Given the description of an element on the screen output the (x, y) to click on. 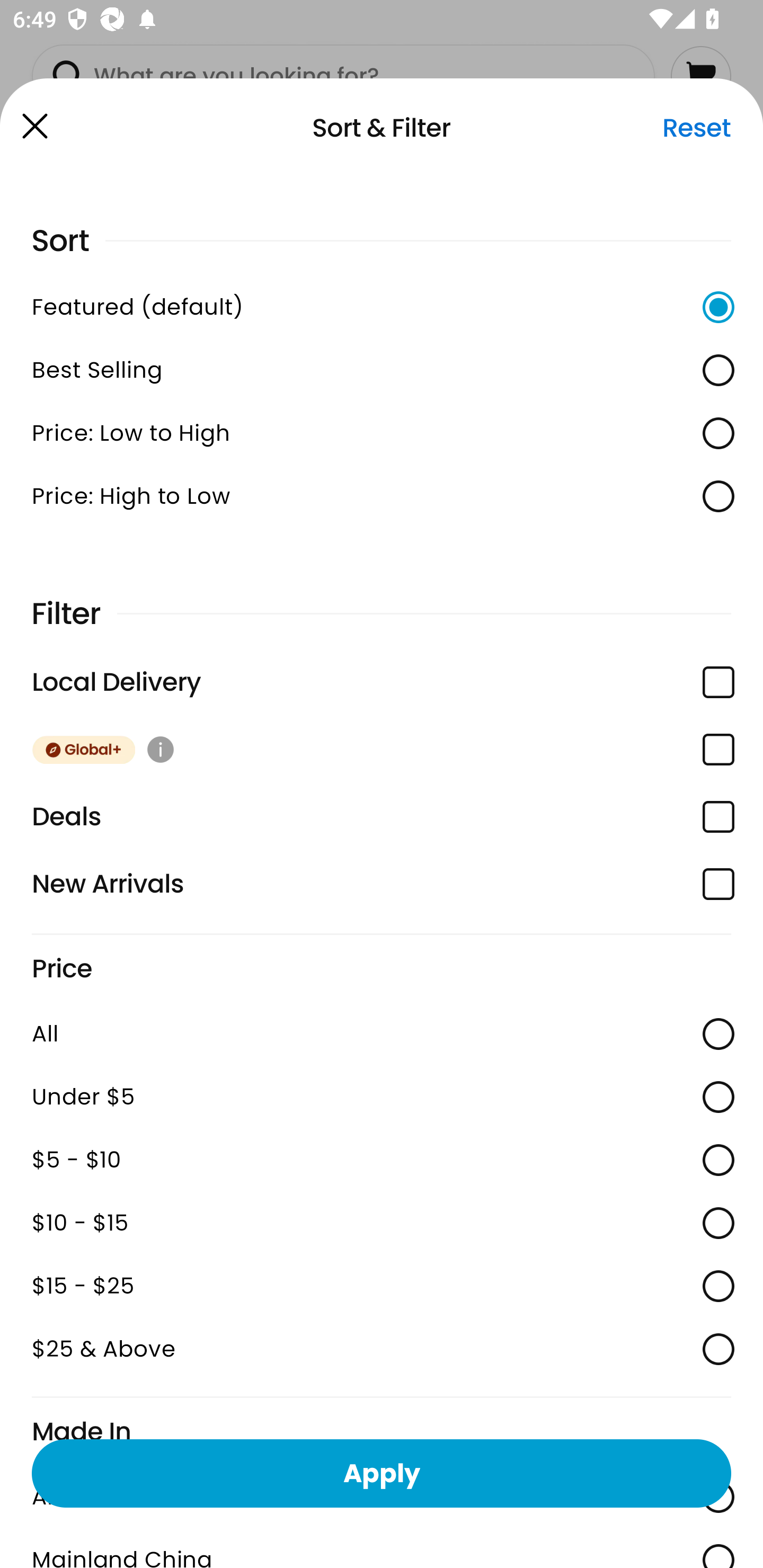
Reset (696, 127)
Apply (381, 1472)
